Given the description of an element on the screen output the (x, y) to click on. 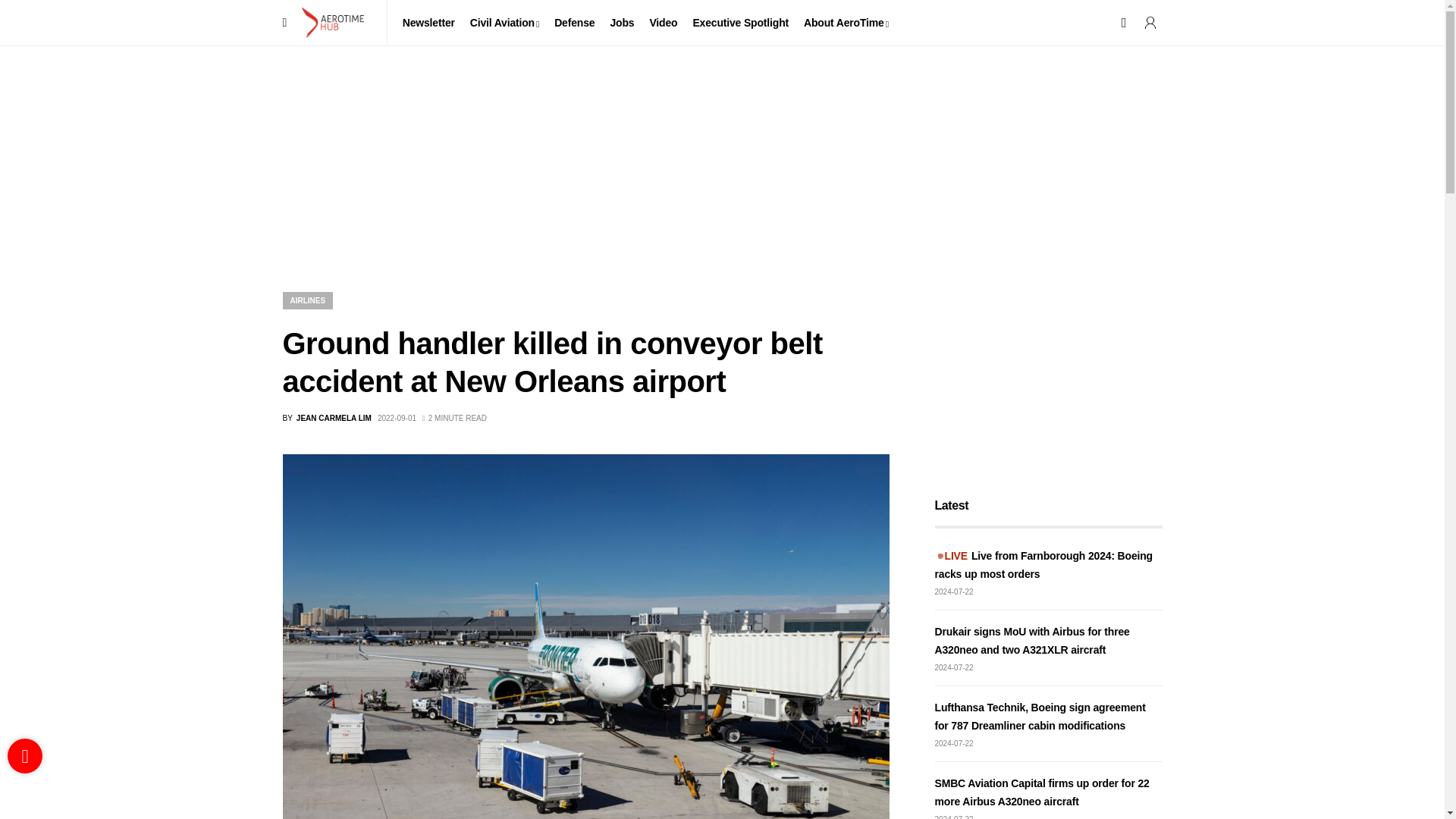
Civil Aviation (504, 22)
Newsletter (428, 22)
View all posts by Jean Carmela Lim (326, 418)
